Given the description of an element on the screen output the (x, y) to click on. 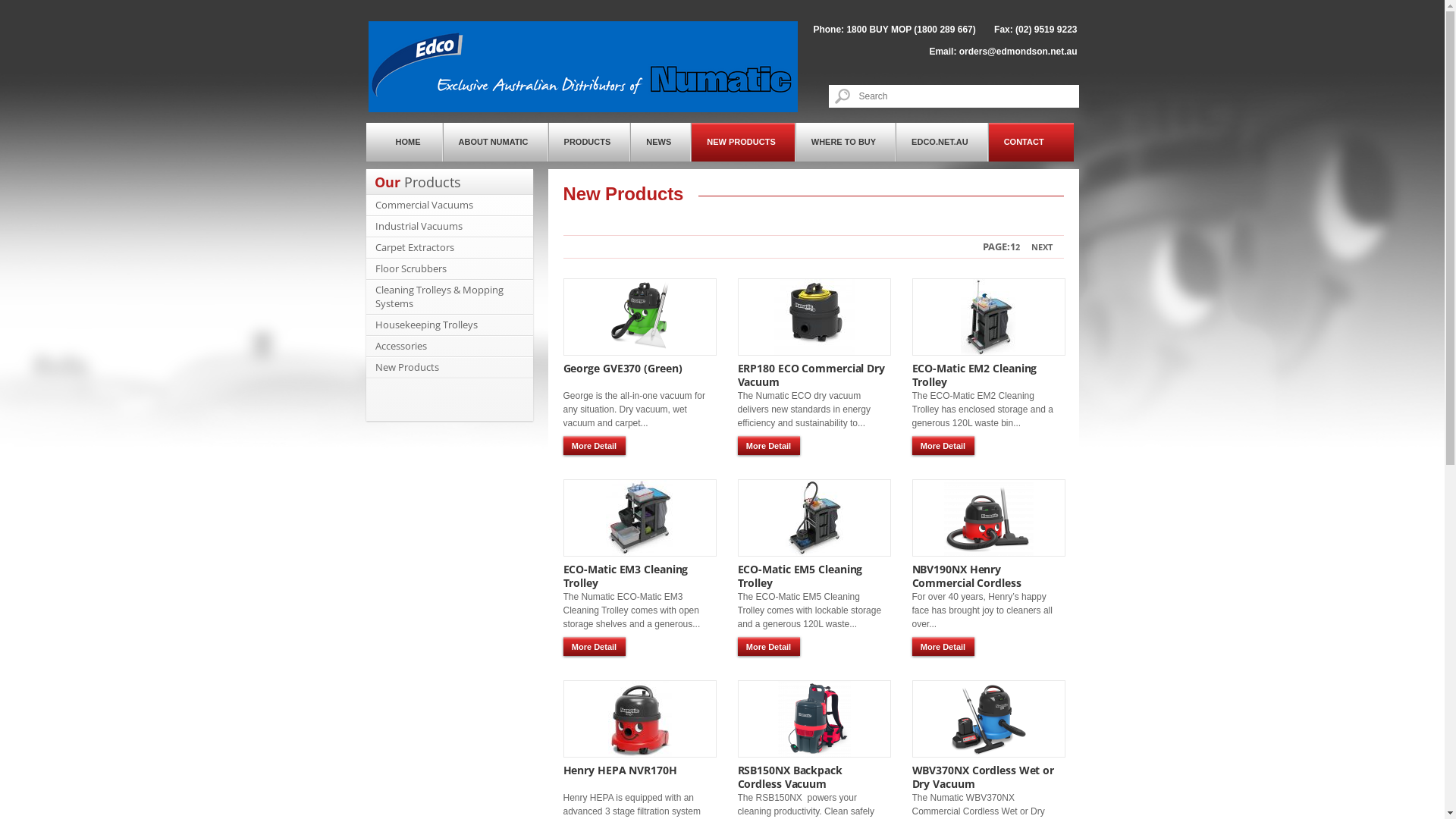
Housekeeping Trolleys Element type: text (425, 324)
Carpet Extractors Element type: text (413, 247)
CONTACT Element type: text (1030, 141)
NEWS Element type: text (660, 141)
New Products Element type: text (406, 366)
Cleaning Trolleys & Mopping Systems Element type: text (438, 296)
Commercial Vacuums Element type: text (423, 204)
Industrial Vacuums Element type: text (417, 225)
Accessories Element type: text (400, 345)
Email: orders@edmondson.net.au Element type: text (1002, 51)
Floor Scrubbers Element type: text (409, 268)
EDCO.NET.AU Element type: text (941, 141)
2 Element type: text (1017, 246)
ABOUT NUMATIC Element type: text (495, 141)
NEW PRODUCTS Element type: text (742, 141)
PRODUCTS Element type: text (589, 141)
NEXT Element type: text (1041, 246)
WHERE TO BUY Element type: text (845, 141)
HOME Element type: text (403, 141)
